Given the description of an element on the screen output the (x, y) to click on. 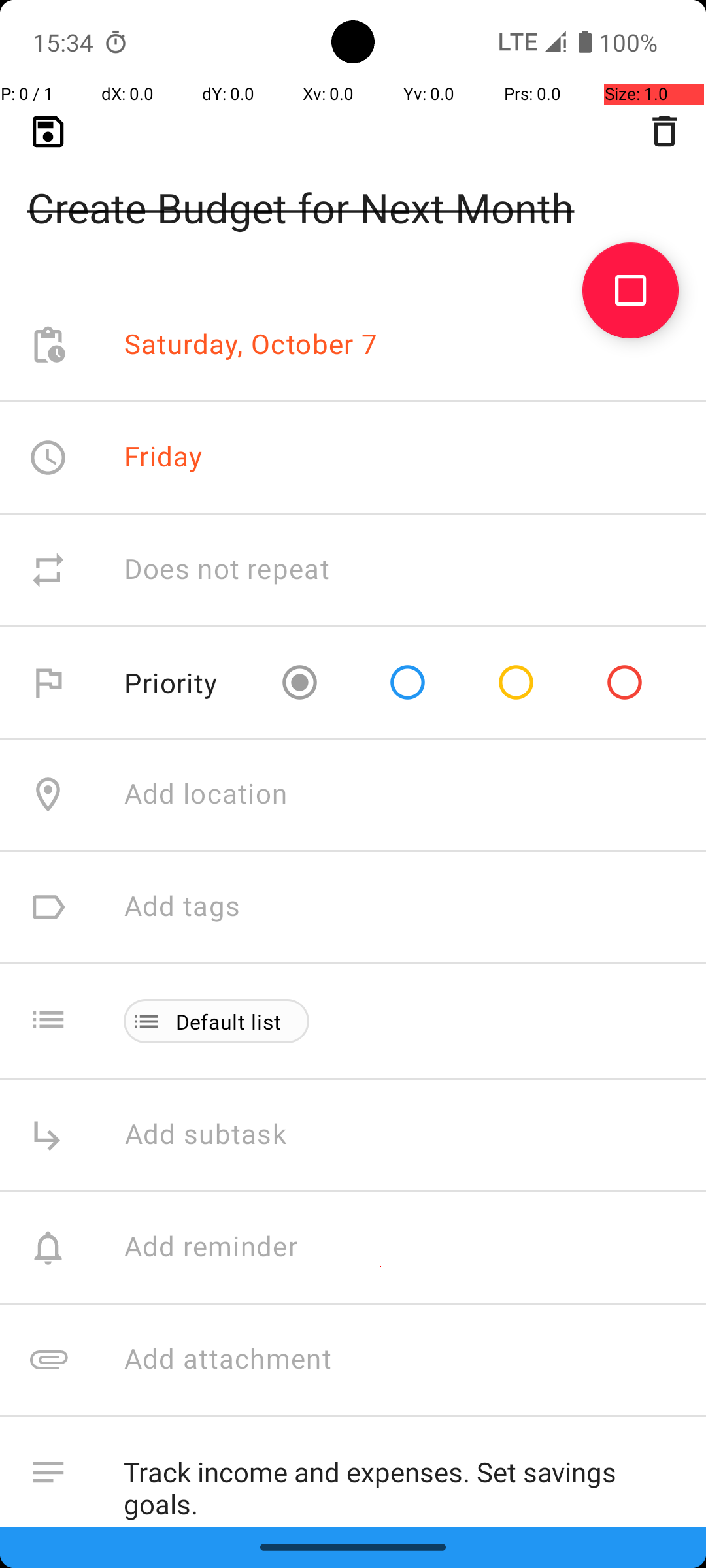
Saturday, October 7 Element type: android.widget.TextView (250, 344)
